Given the description of an element on the screen output the (x, y) to click on. 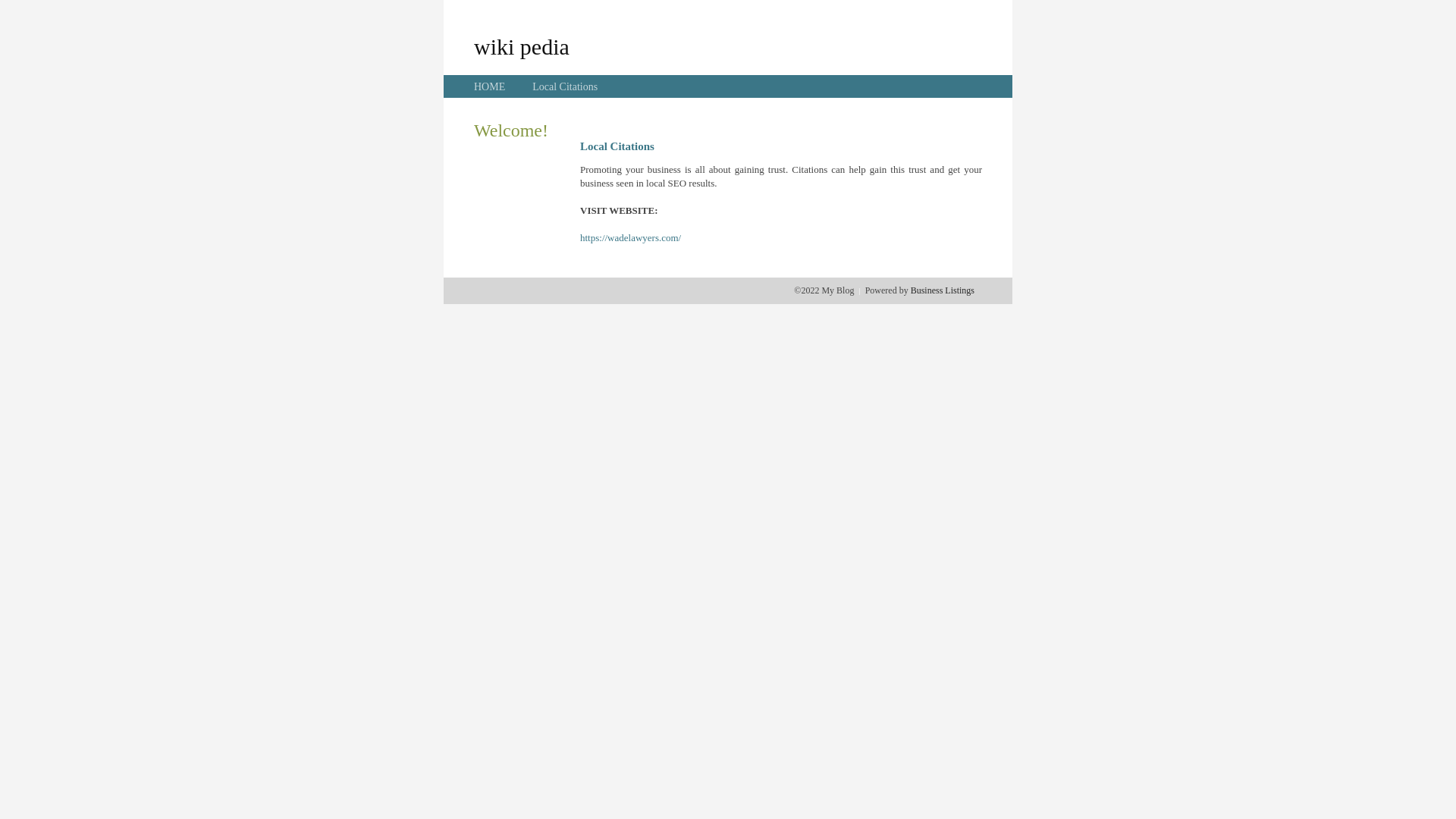
Business Listings Element type: text (942, 290)
HOME Element type: text (489, 86)
wiki pedia Element type: text (521, 46)
https://wadelawyers.com/ Element type: text (630, 237)
Local Citations Element type: text (564, 86)
